Given the description of an element on the screen output the (x, y) to click on. 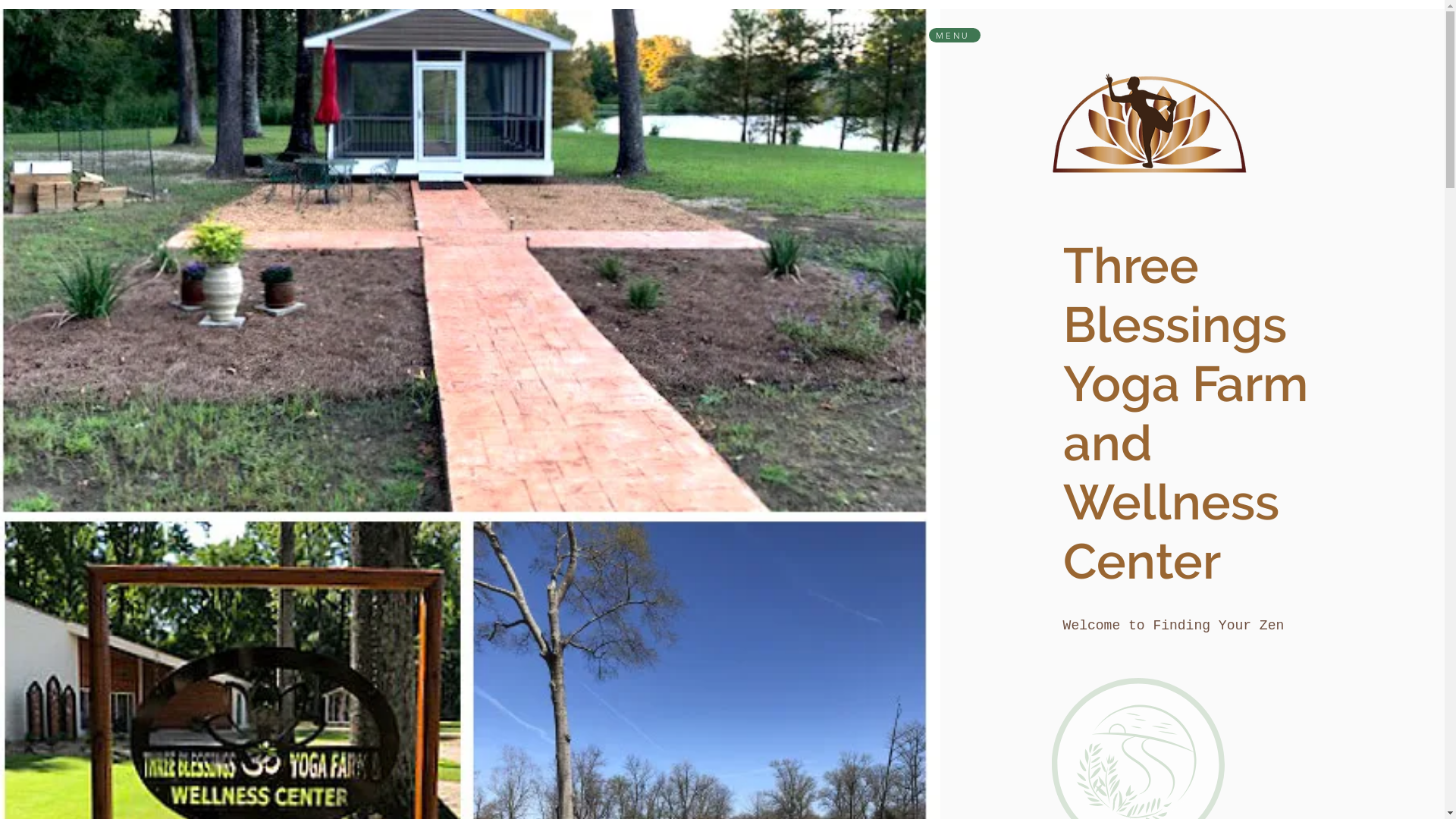
MENU Element type: text (953, 35)
